Given the description of an element on the screen output the (x, y) to click on. 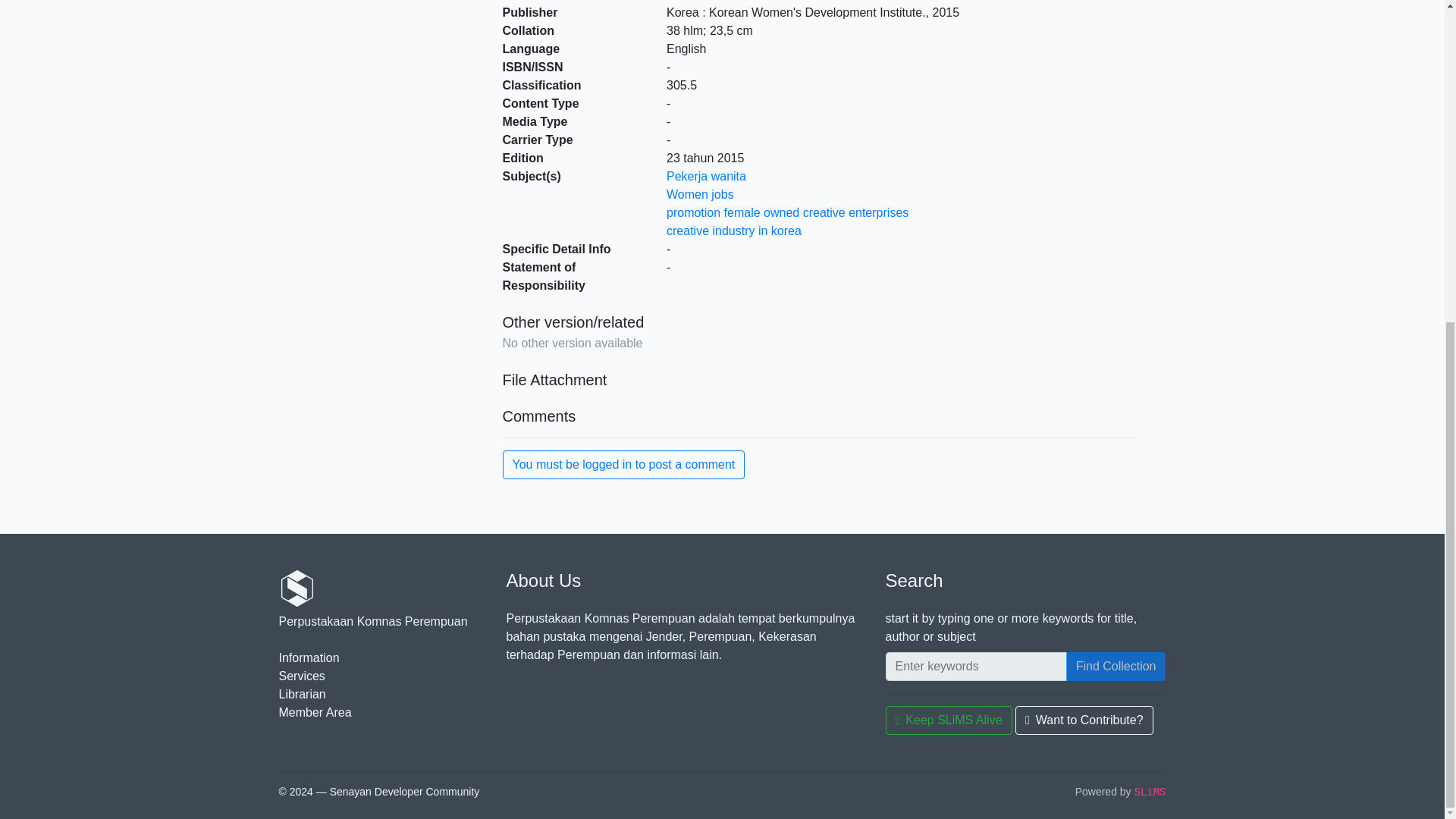
Keep SLiMS Alive (948, 719)
Click to view others documents with this subject (699, 194)
Services (301, 675)
Women jobs (699, 194)
Want to Contribute? (1083, 719)
Information (309, 657)
promotion female owned creative enterprises (787, 212)
Contribute (1083, 719)
Librarian (302, 694)
Member Area (315, 712)
